Given the description of an element on the screen output the (x, y) to click on. 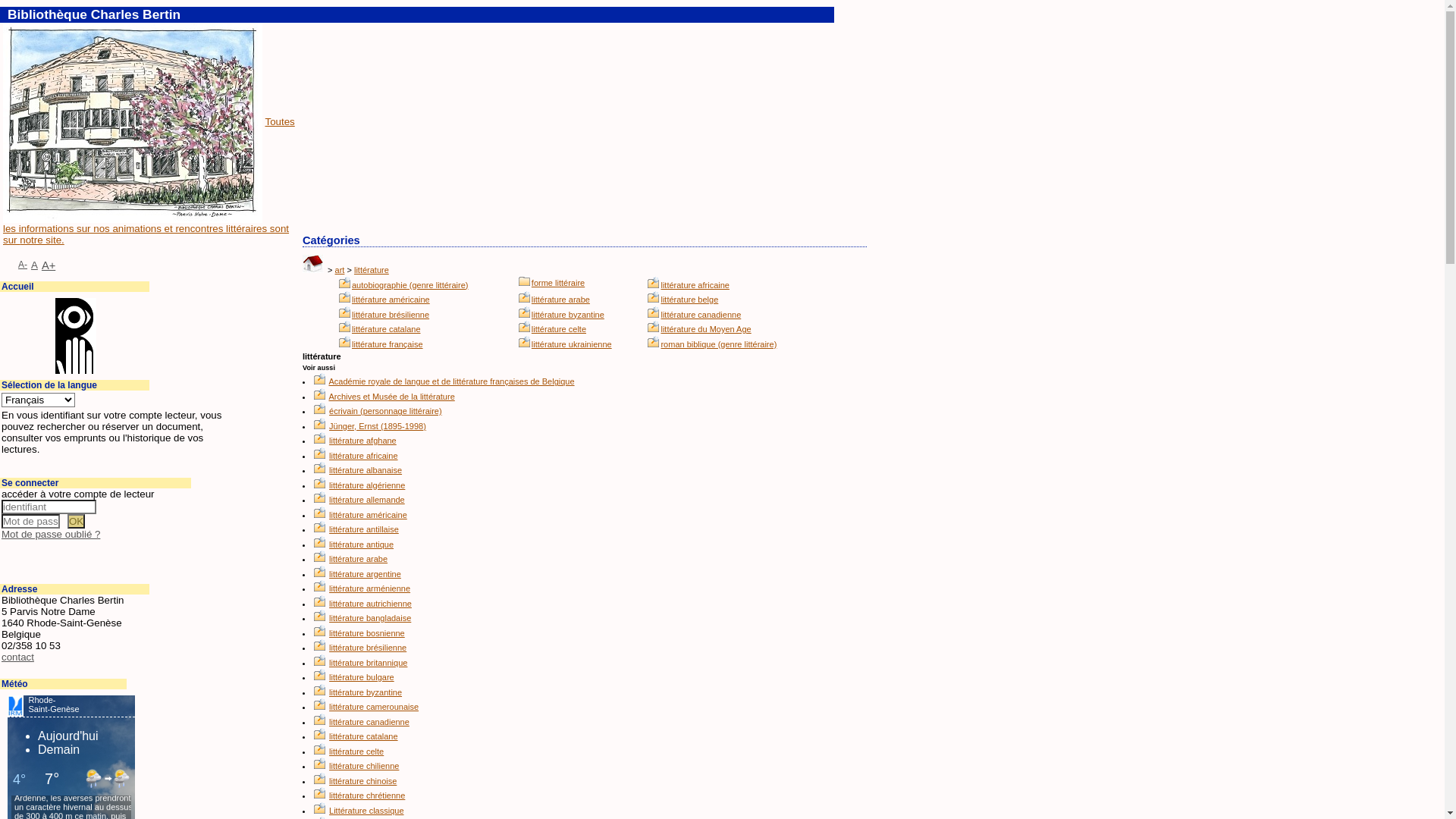
A Element type: text (34, 264)
ok Element type: text (75, 521)
A- Element type: text (22, 264)
A+ Element type: text (48, 265)
notre site. Element type: text (41, 239)
contact Element type: text (17, 656)
Accueil Element type: text (17, 286)
art Element type: text (340, 269)
